Given the description of an element on the screen output the (x, y) to click on. 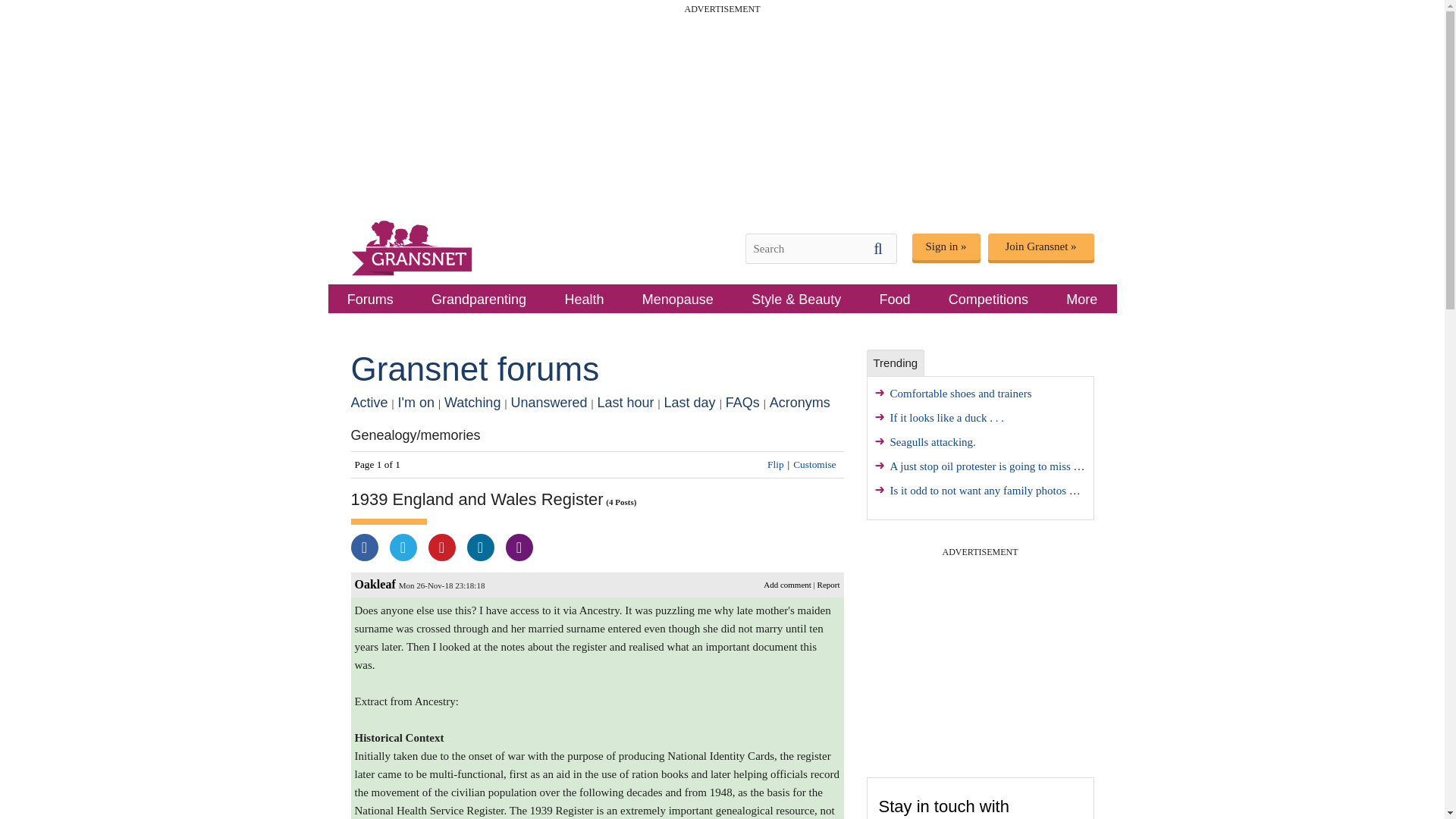
Watching (472, 402)
Share this on Facebook (363, 547)
Oakleaf (375, 584)
Active (368, 402)
Flip (775, 464)
Last day (689, 402)
Add your comment to this discussion (786, 583)
Last hour (624, 402)
Menopause (677, 298)
FAQs (742, 402)
Unanswered (548, 402)
Share this on Pinterest (441, 547)
More (1081, 298)
Grandparenting (478, 298)
I'm on (415, 402)
